Given the description of an element on the screen output the (x, y) to click on. 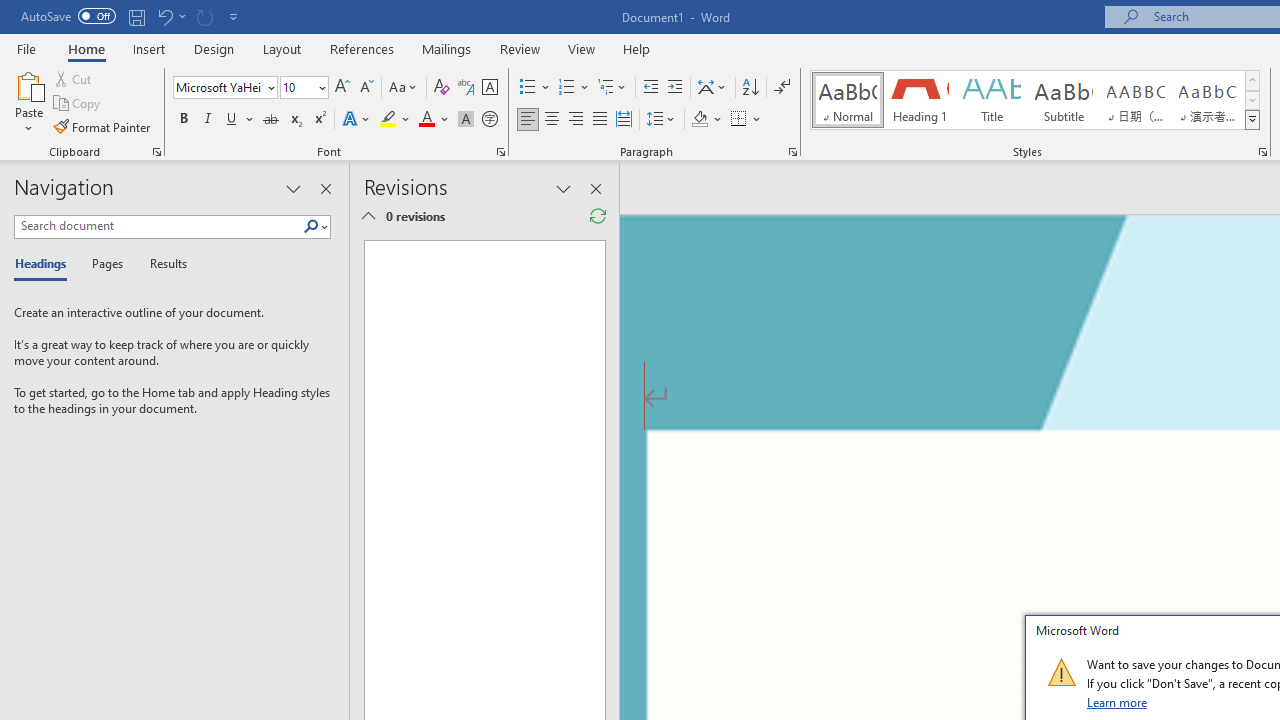
Row up (1252, 79)
Font Size (304, 87)
Paste (28, 102)
Text Effects and Typography (357, 119)
Strikethrough (270, 119)
Home (86, 48)
